Given the description of an element on the screen output the (x, y) to click on. 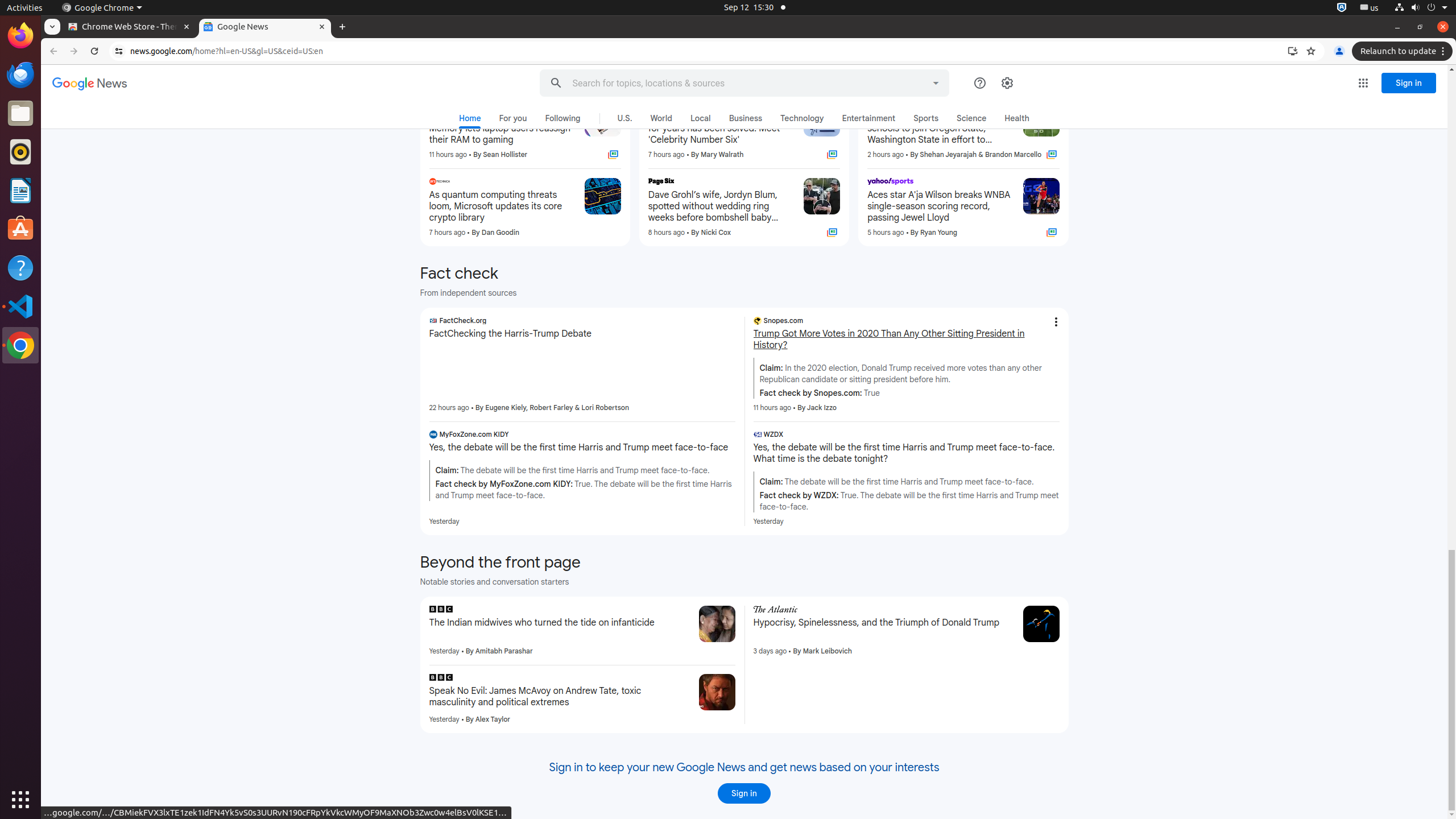
Forward Element type: push-button (73, 50)
Install Google News Element type: push-button (1292, 51)
U.S. Element type: menu-item (624, 118)
Visual Studio Code Element type: push-button (20, 306)
Science Element type: menu-item (971, 118)
